Given the description of an element on the screen output the (x, y) to click on. 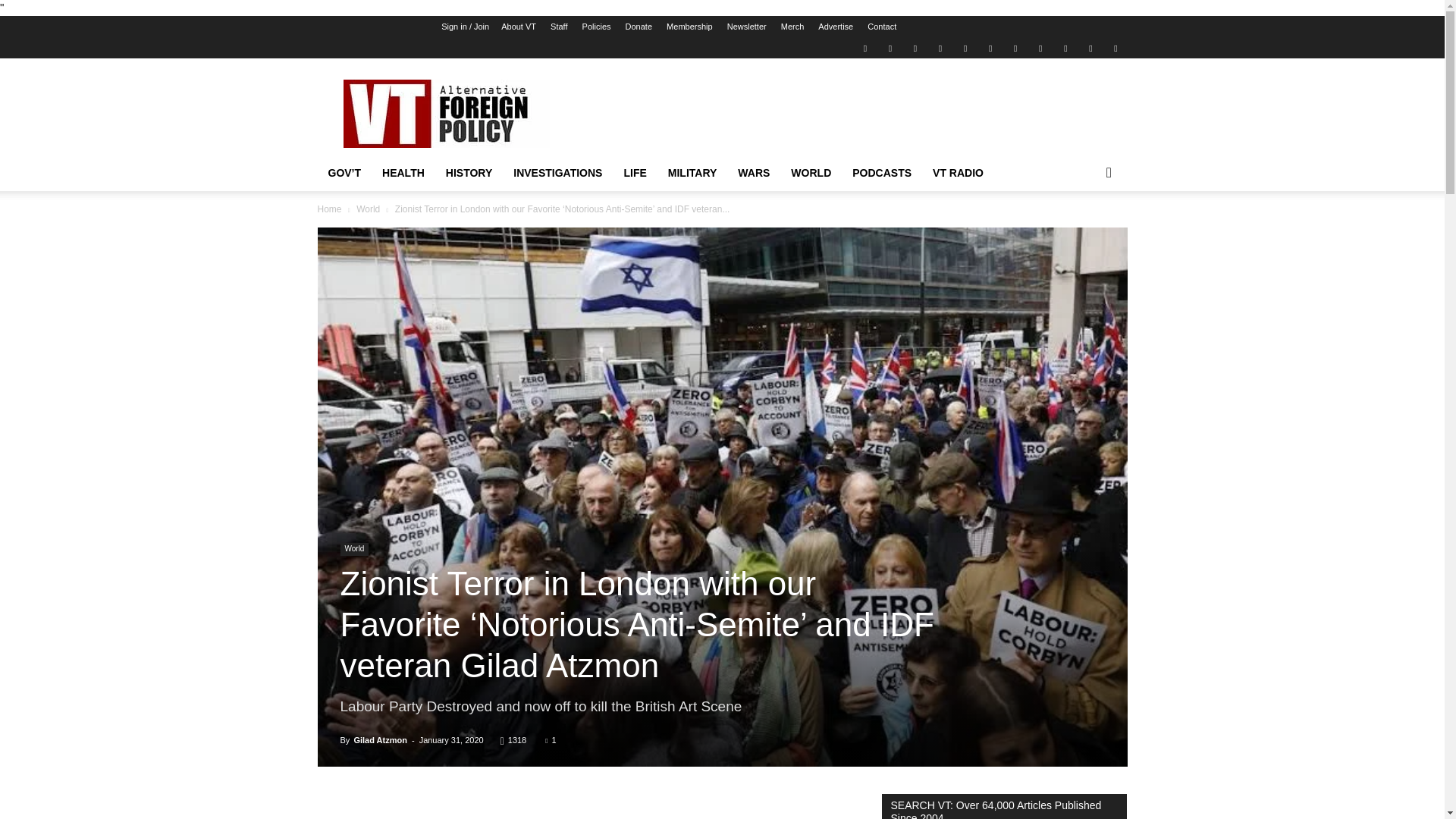
About VT (517, 26)
Membership (689, 26)
Donate (639, 26)
Blogger (864, 47)
Staff (558, 26)
Advertise (835, 26)
Newsletter (746, 26)
Contact (881, 26)
Mail (915, 47)
Rumble (964, 47)
Facebook (890, 47)
Reddit (940, 47)
Merch (792, 26)
Policies (596, 26)
